Given the description of an element on the screen output the (x, y) to click on. 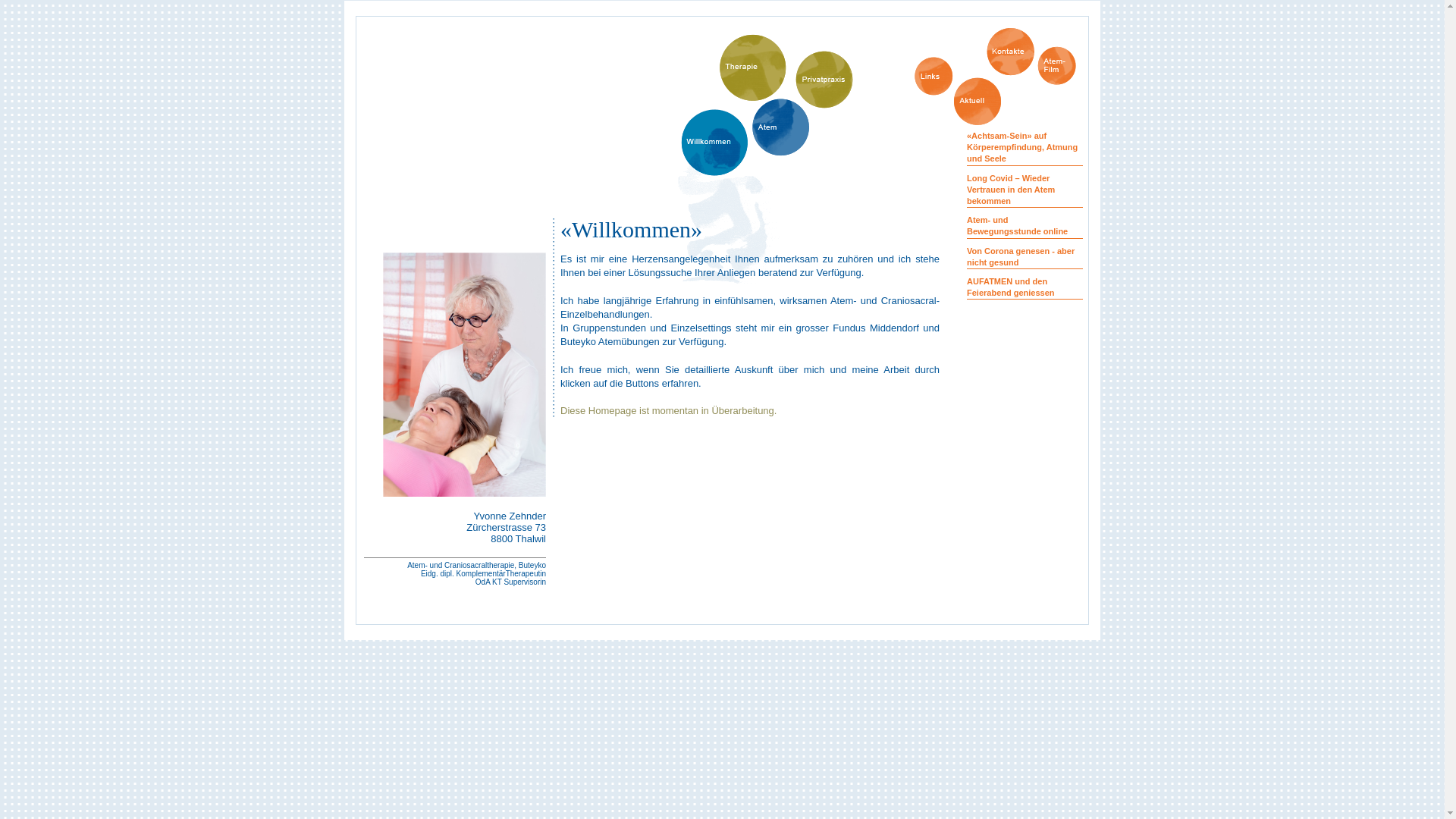
Privatpraxis Element type: text (824, 79)
Aktuell Element type: text (977, 101)
Links Element type: text (933, 75)
AUFATMEN und den Feierabend geniessen Element type: text (1010, 286)
Therapie Element type: text (752, 67)
Atem-Film Element type: text (1056, 65)
Atem Element type: text (780, 127)
Atem- und Bewegungsstunde online Element type: text (1016, 225)
Willkommen Element type: text (713, 142)
Von Corona genesen - aber nicht gesund Element type: text (1020, 255)
Kontakte Element type: text (1010, 51)
